Given the description of an element on the screen output the (x, y) to click on. 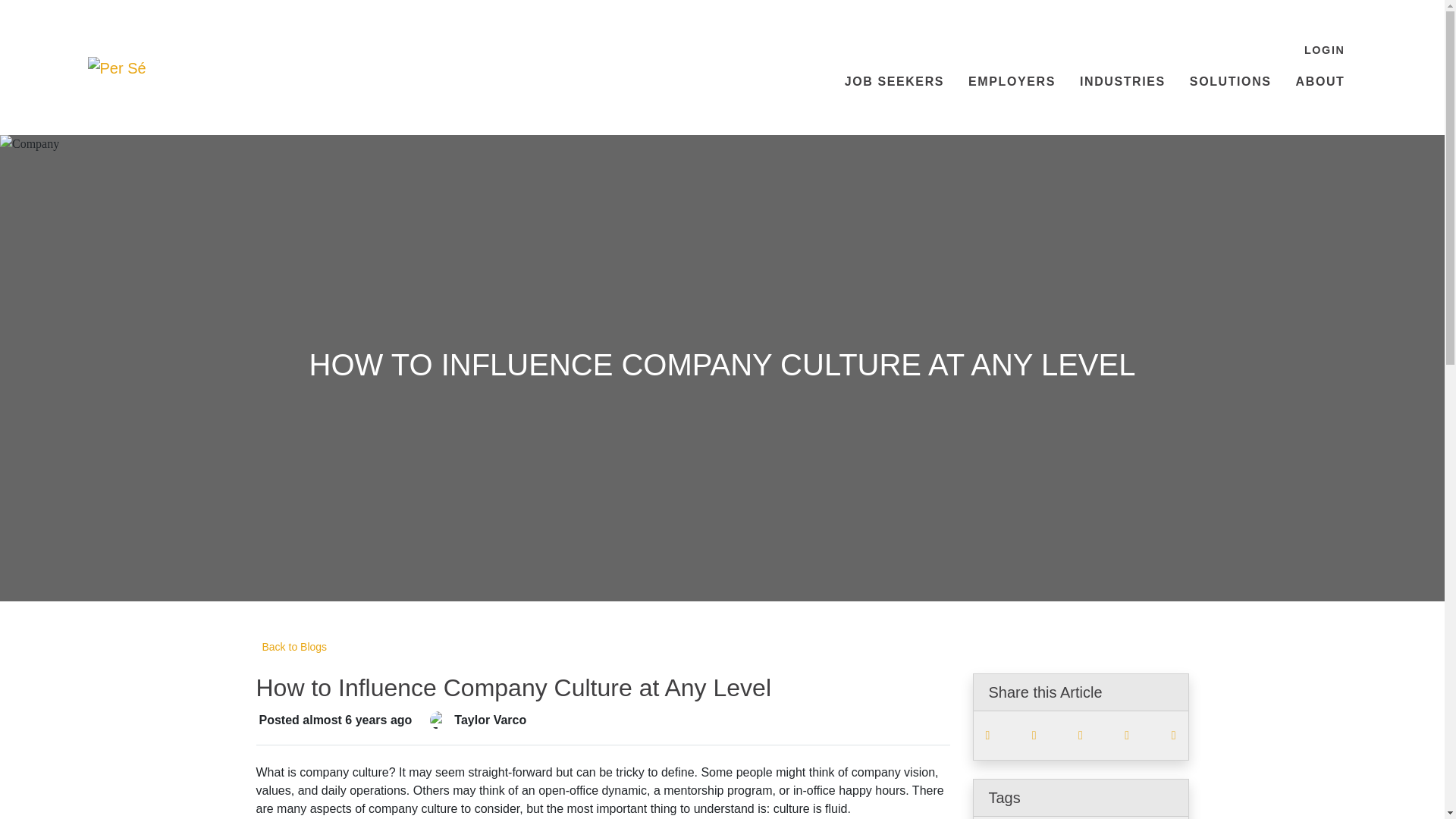
JOB SEEKERS (894, 82)
Back to Blogs (291, 647)
Author (438, 720)
INDUSTRIES (1122, 82)
ABOUT (1320, 82)
EMPLOYERS (1011, 82)
SOLUTIONS (1230, 82)
LOGIN (1324, 51)
